Given the description of an element on the screen output the (x, y) to click on. 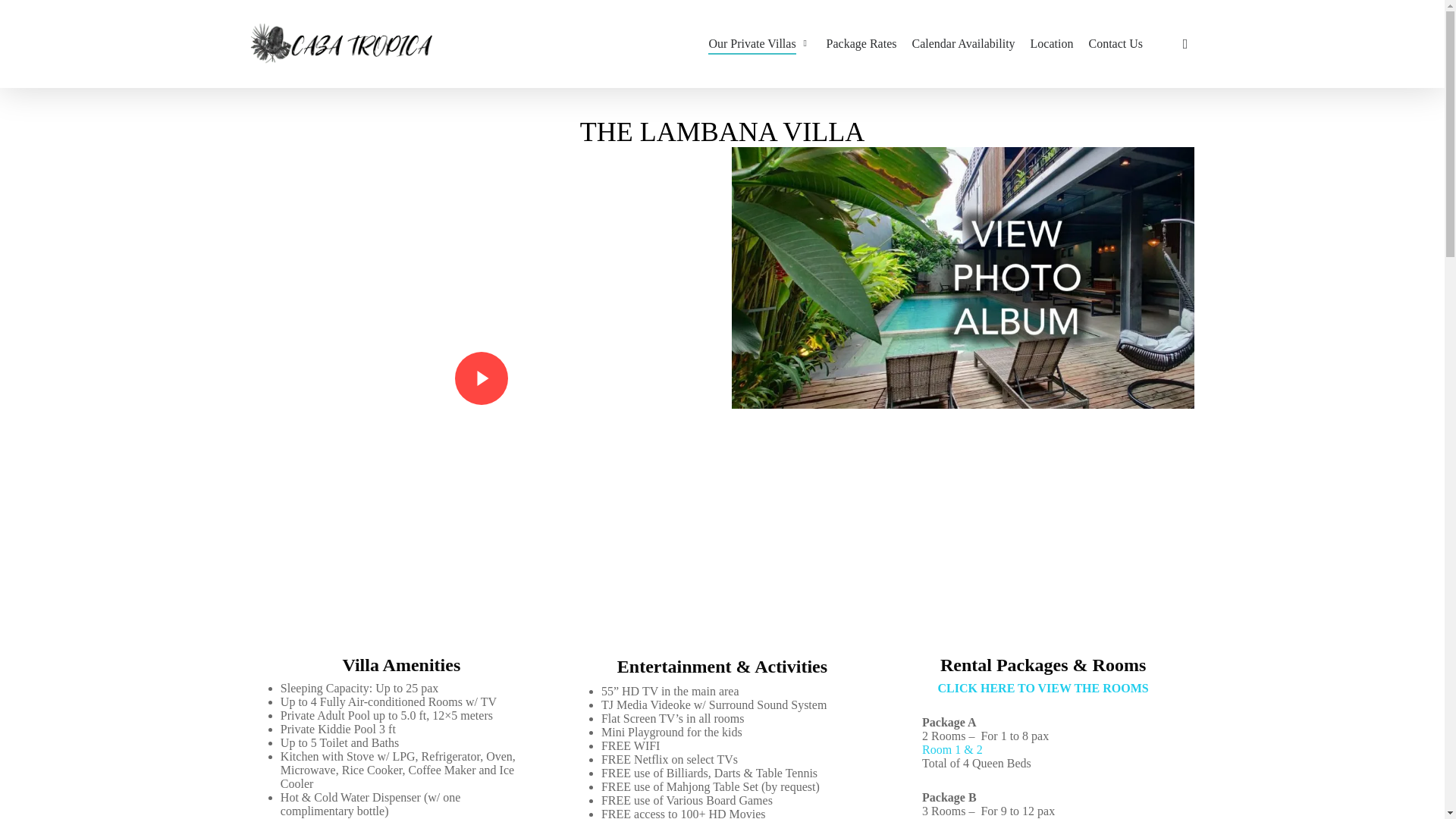
search (1184, 43)
Package Rates (861, 43)
Contact Us (1114, 43)
Play Video (481, 378)
Location (1052, 43)
Our Private Villas (758, 43)
Calendar Availability (962, 43)
